Given the description of an element on the screen output the (x, y) to click on. 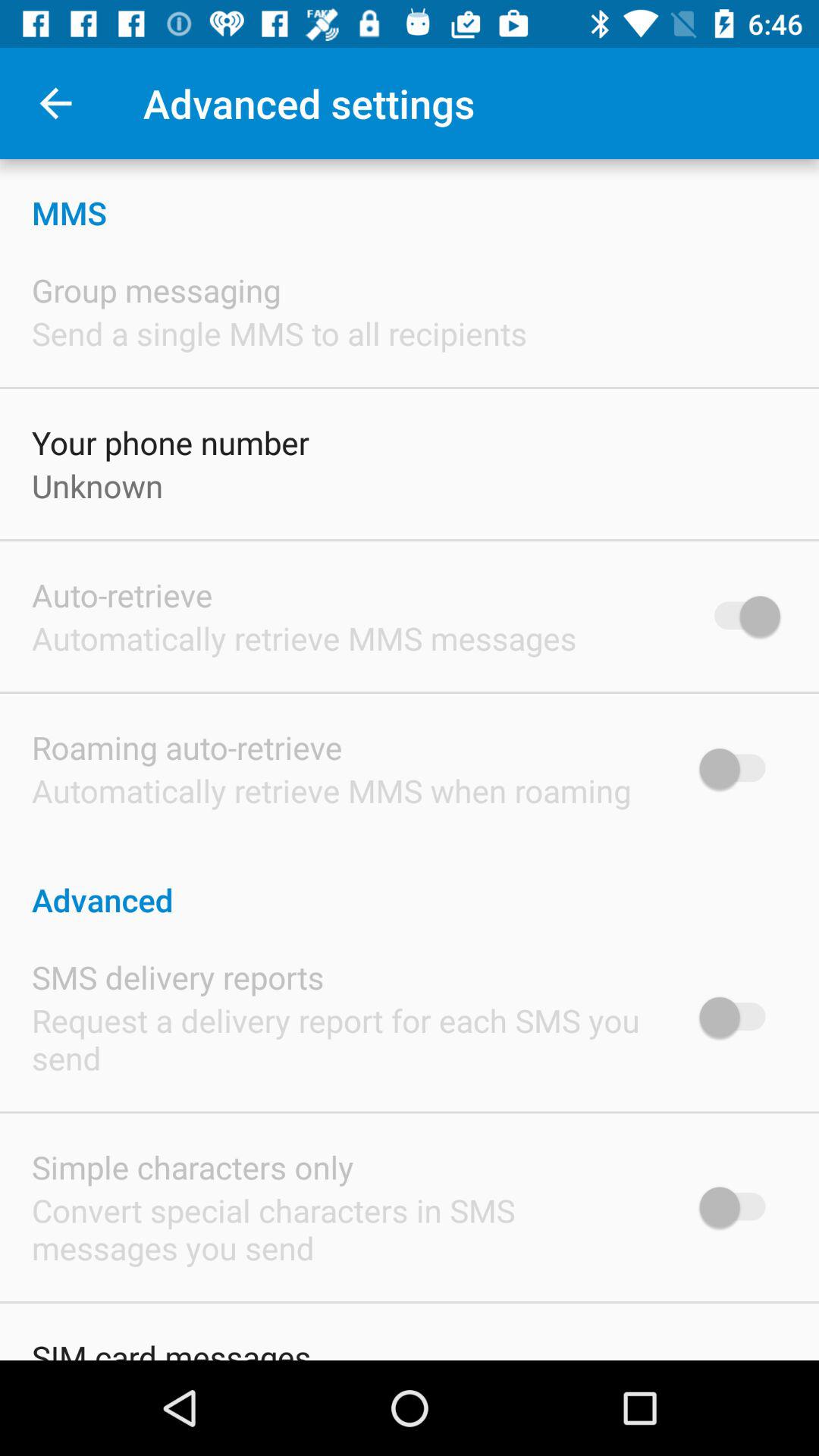
flip to sim card messages item (171, 1347)
